Given the description of an element on the screen output the (x, y) to click on. 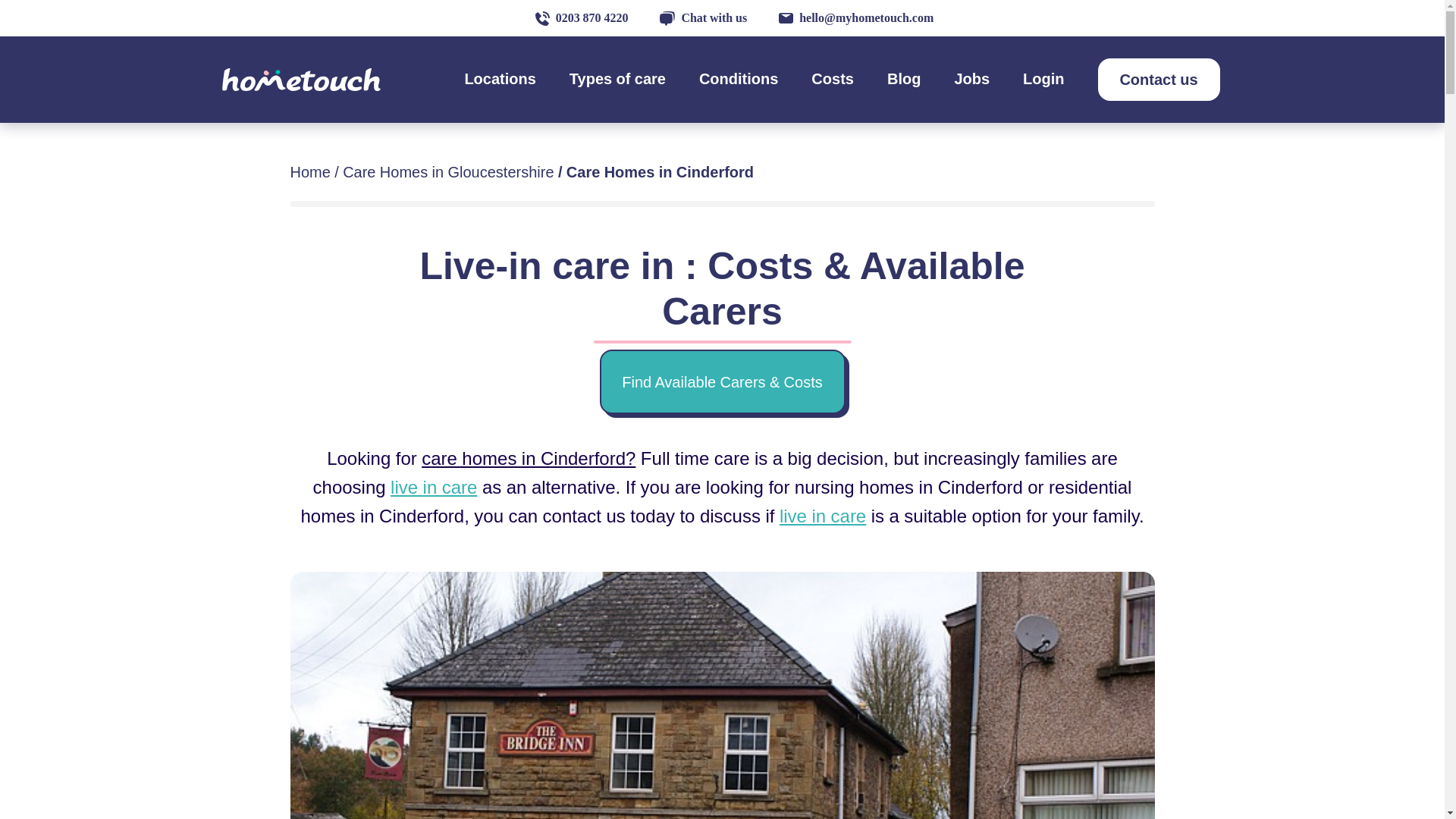
Login (1043, 78)
0203 870 4220 (582, 18)
Contact us (1158, 79)
Conditions (737, 78)
Types of care (617, 78)
Locations (499, 78)
Blog (903, 78)
Costs (831, 78)
Jobs (971, 78)
Chat with us (702, 18)
